Given the description of an element on the screen output the (x, y) to click on. 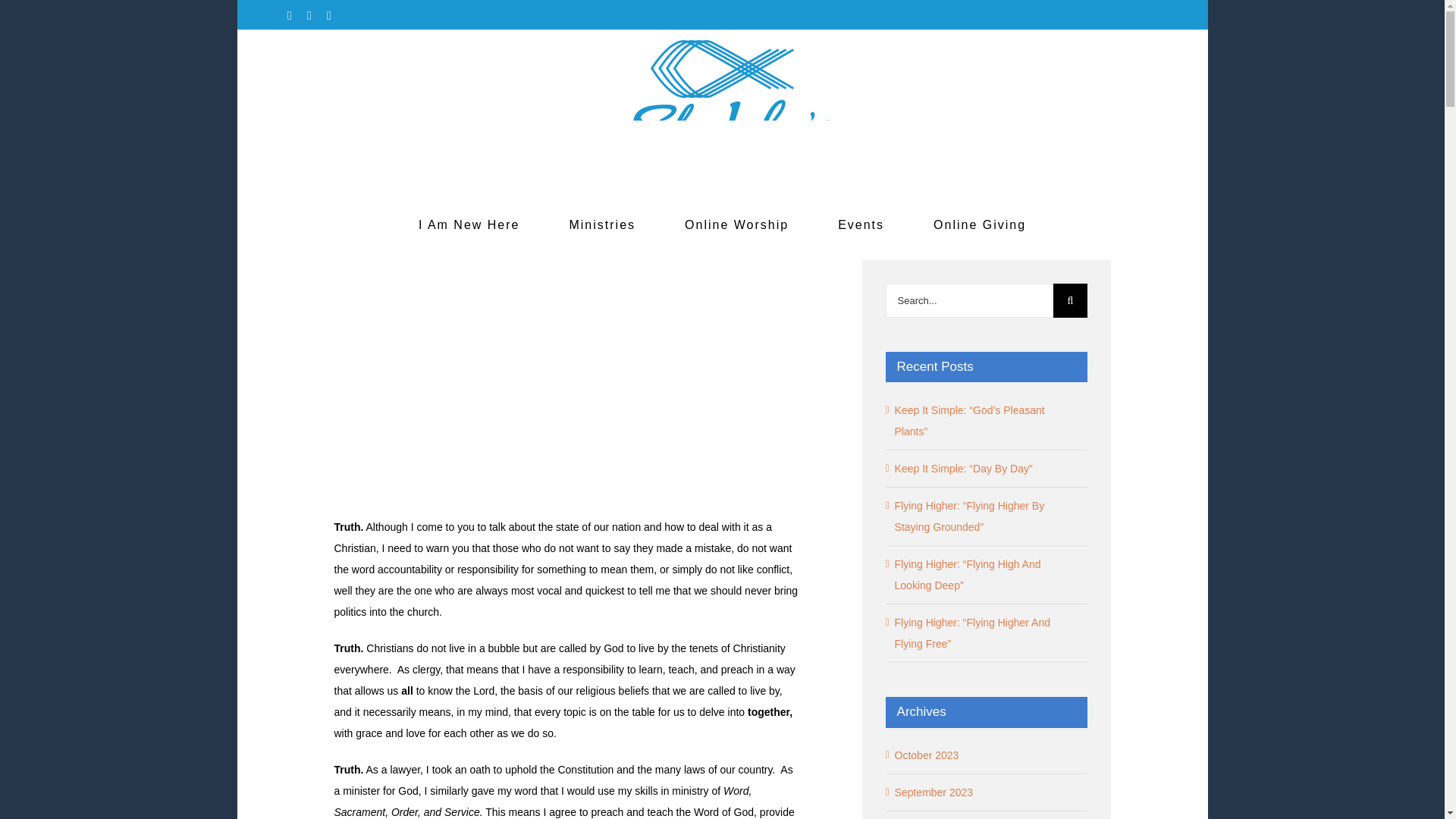
Online Worship (736, 224)
Events (860, 224)
Online Giving (979, 224)
Ministries (601, 224)
View Larger Image (566, 376)
I Am New Here (469, 224)
